Given the description of an element on the screen output the (x, y) to click on. 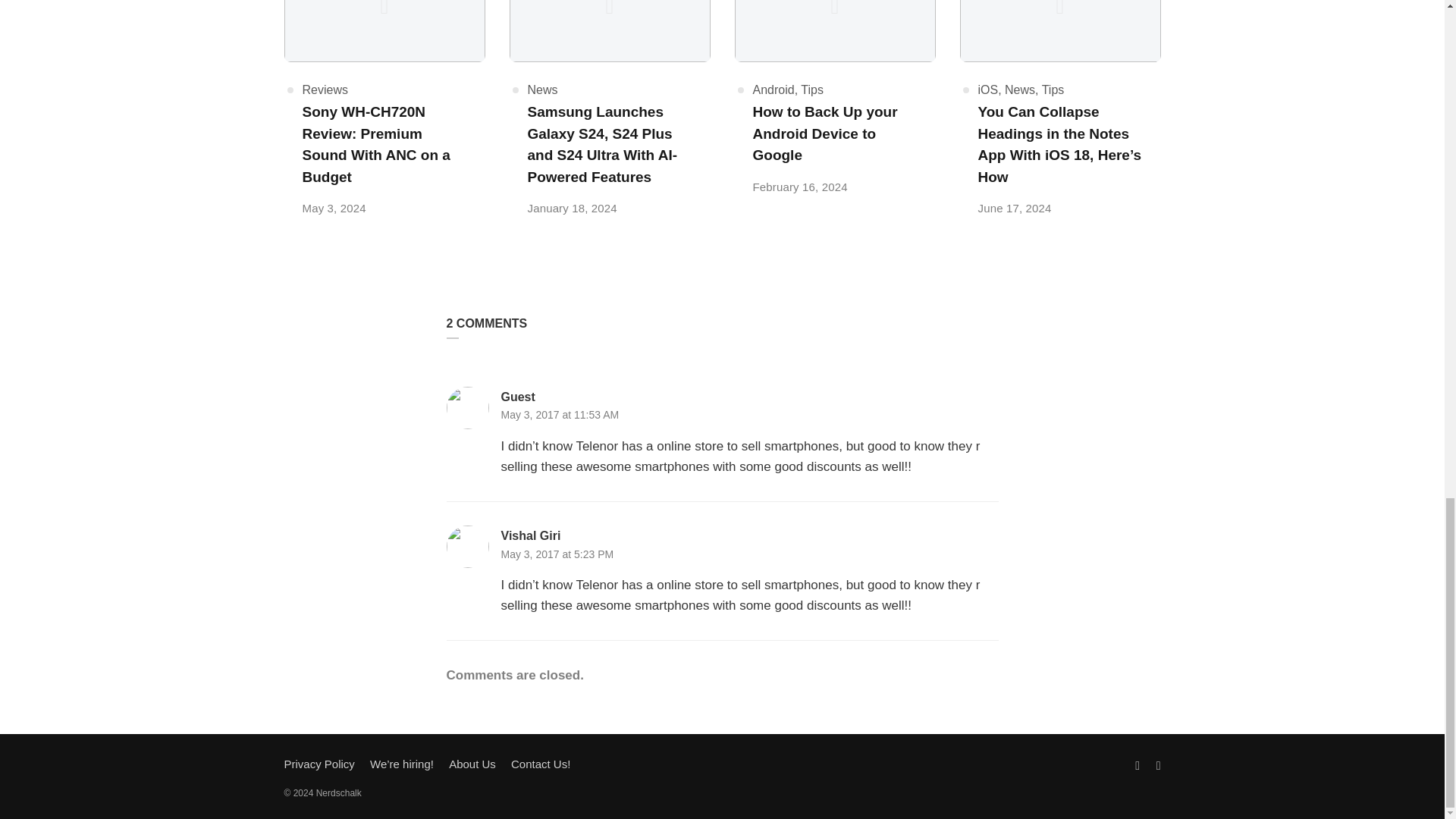
May 3, 2017 at 5:23 PM (556, 553)
News (1019, 89)
Privacy Policy (318, 763)
Android (772, 89)
Tips (812, 89)
May 3, 2017 at 11:53 AM (559, 414)
Tips (1053, 89)
News (542, 89)
iOS (988, 89)
Reviews (324, 89)
